Given the description of an element on the screen output the (x, y) to click on. 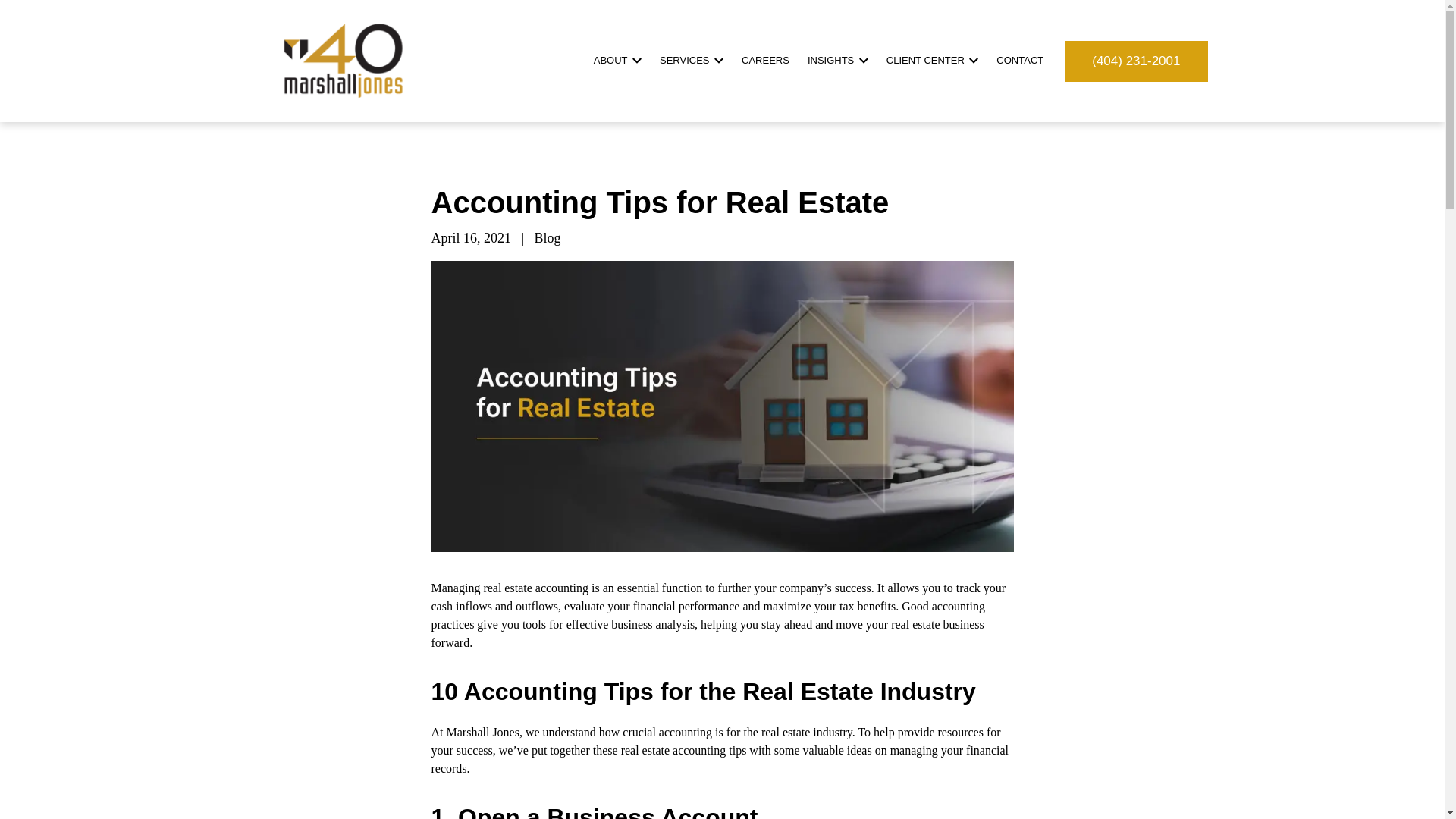
ABOUT (617, 59)
